Given the description of an element on the screen output the (x, y) to click on. 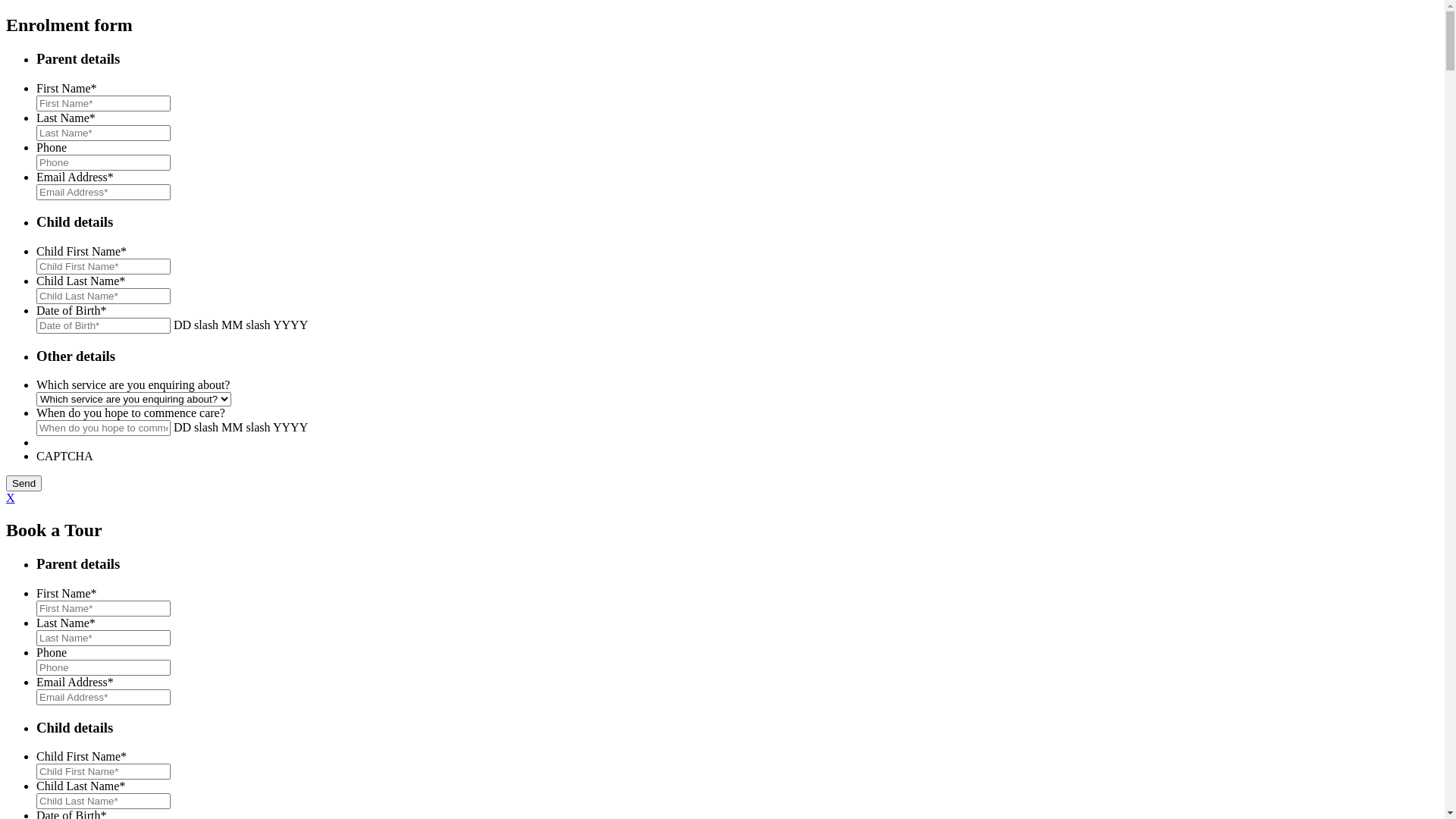
X Element type: text (10, 497)
Send Element type: text (23, 483)
